Given the description of an element on the screen output the (x, y) to click on. 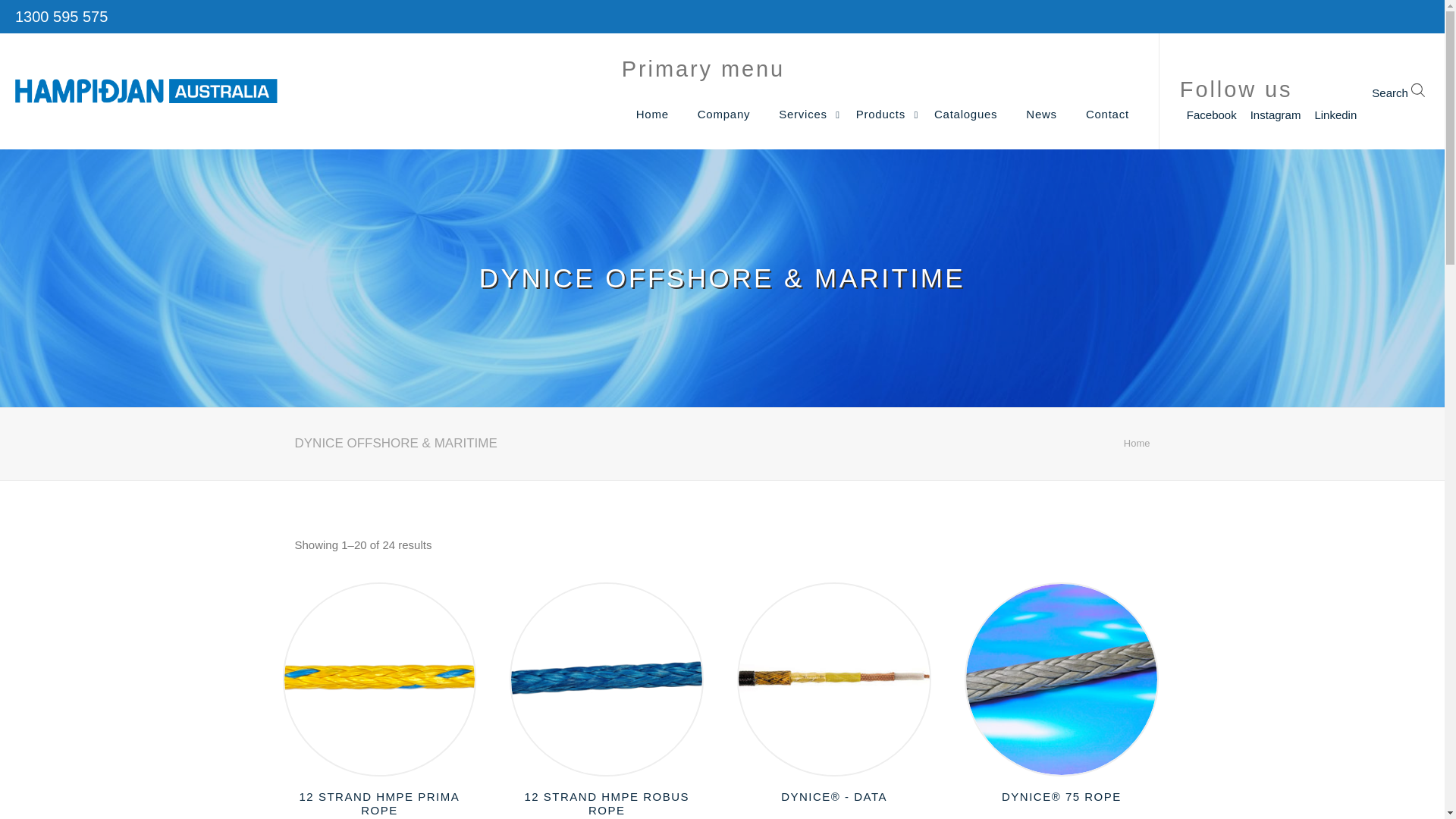
Catalogues Element type: text (965, 114)
Services Element type: text (802, 114)
Instagram Element type: text (1275, 115)
Linkedin Element type: text (1335, 115)
News Element type: text (1041, 114)
Search Element type: text (1398, 91)
Home page - Hampidjan Australia Element type: hover (146, 90)
Home Element type: text (1136, 442)
Facebook Element type: text (1211, 115)
Contact Element type: text (1107, 114)
12 STRAND HMPE ROBUS ROPE Element type: text (606, 803)
Home Element type: text (652, 114)
Products Element type: text (880, 114)
12 STRAND HMPE PRIMA ROPE Element type: text (379, 803)
Company Element type: text (723, 114)
